Given the description of an element on the screen output the (x, y) to click on. 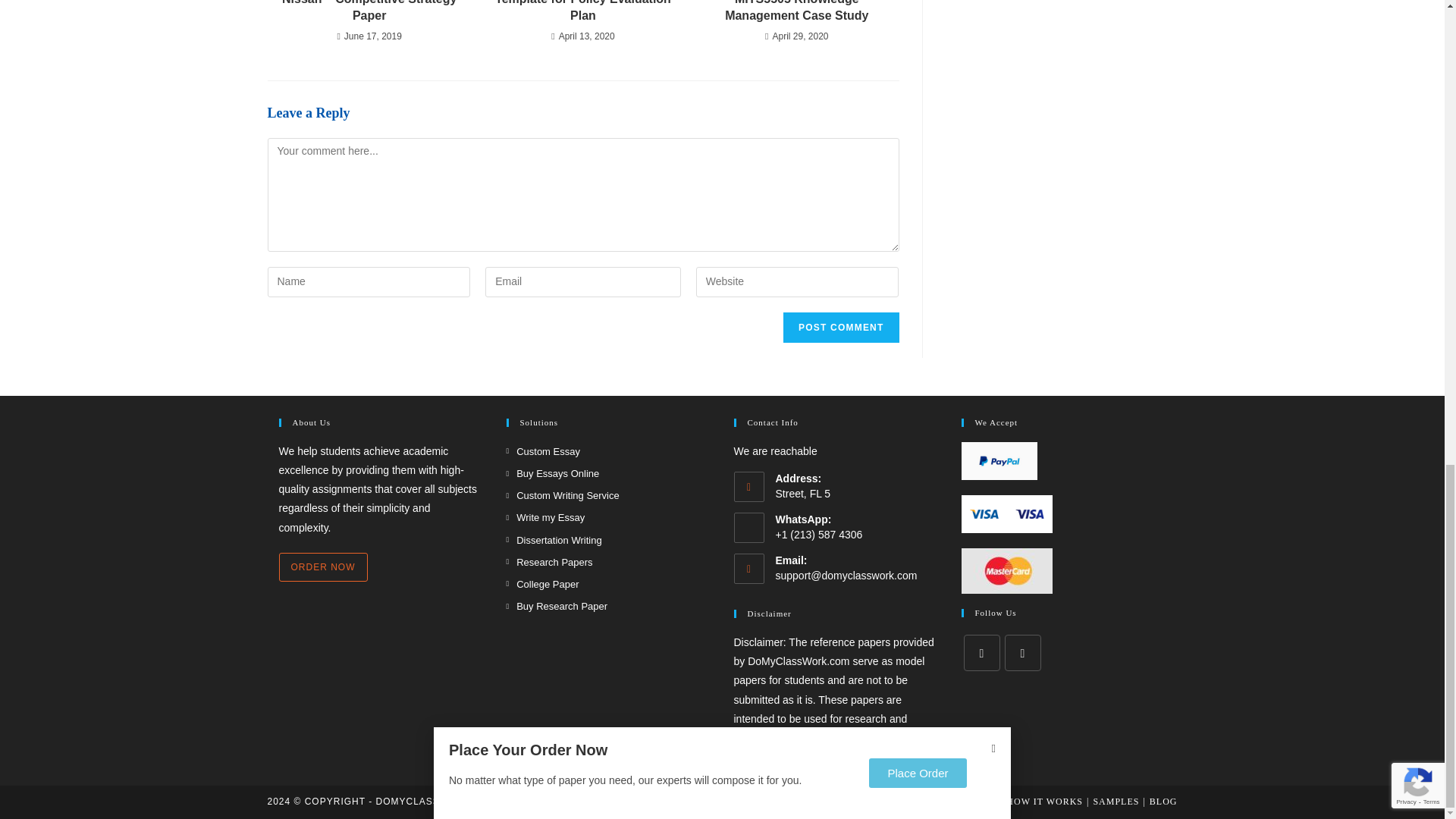
ORDER NOW (323, 566)
Research Papers (549, 561)
Write my Essay (545, 517)
Buy Essays Online (552, 473)
MITS5505 Knowledge Management Case Study (796, 12)
Post Comment (840, 327)
Dissertation Writing (554, 539)
Custom Essay (542, 451)
Post Comment (840, 327)
Template for Policy Evaluation Plan (582, 12)
